Given the description of an element on the screen output the (x, y) to click on. 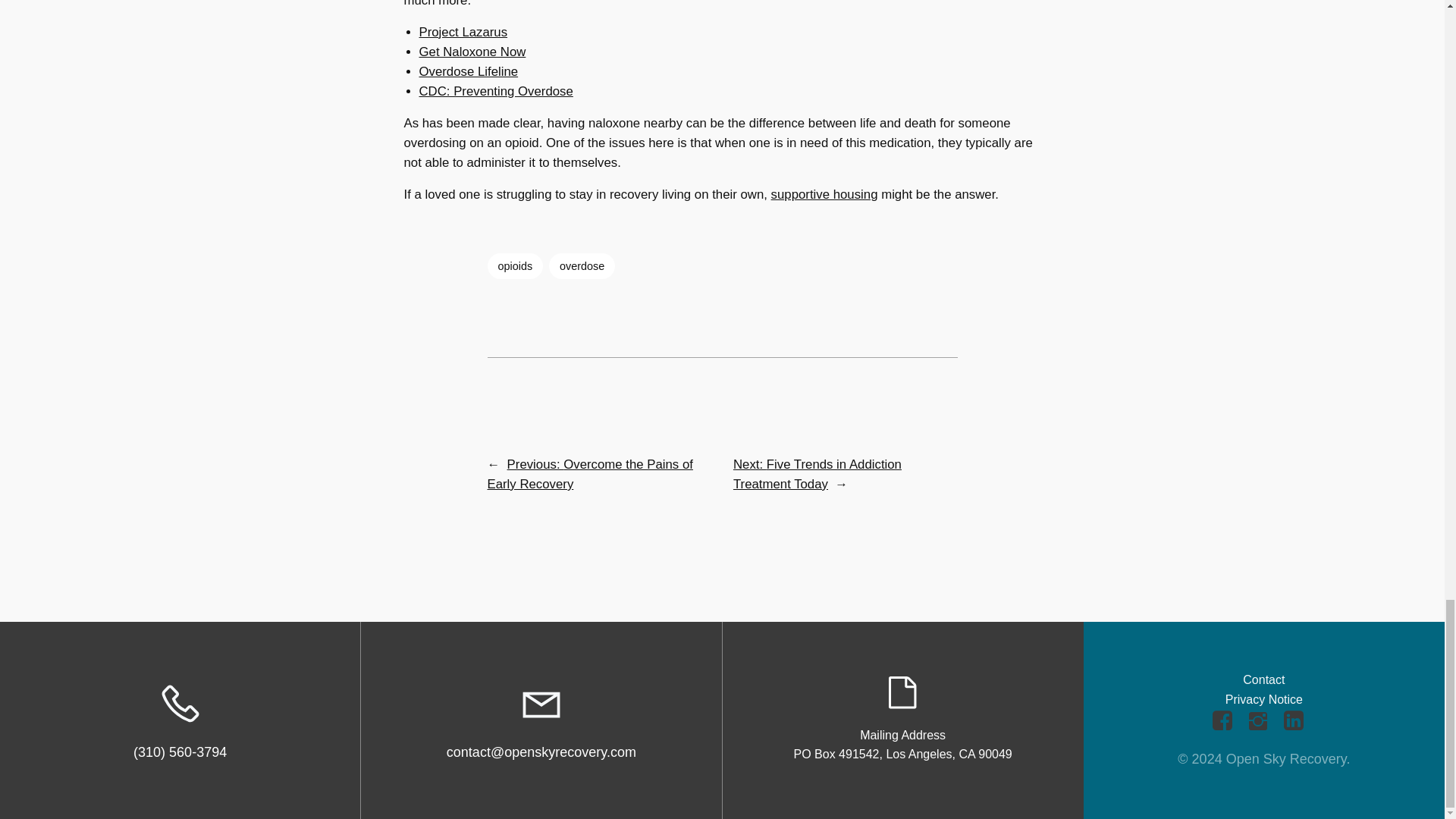
opioids (514, 266)
Overdose Lifeline (468, 71)
CDC: Preventing Overdose (495, 91)
Next: Five Trends in Addiction Treatment Today (817, 474)
supportive housing (824, 194)
Get Naloxone Now (472, 51)
Project Lazarus (462, 32)
Contact (1263, 679)
overdose (581, 266)
Previous: Overcome the Pains of Early Recovery (589, 474)
